Given the description of an element on the screen output the (x, y) to click on. 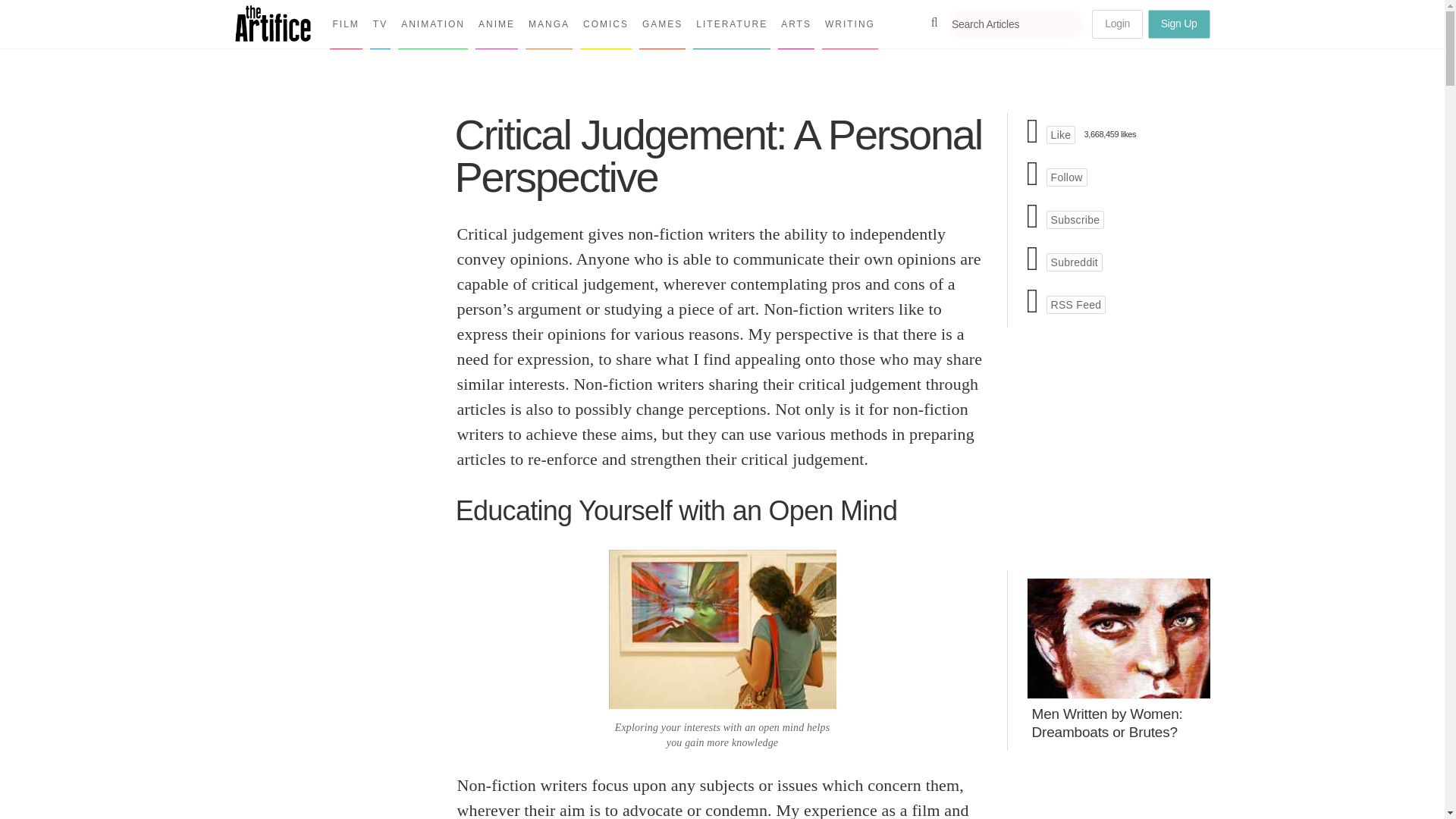
Sign Up (1178, 23)
COMICS (605, 24)
GAMES (662, 24)
The Artifice (272, 37)
MANGA (548, 24)
WRITING (849, 24)
Login (1117, 23)
LITERATURE (731, 24)
ANIMATION (432, 24)
